Given the description of an element on the screen output the (x, y) to click on. 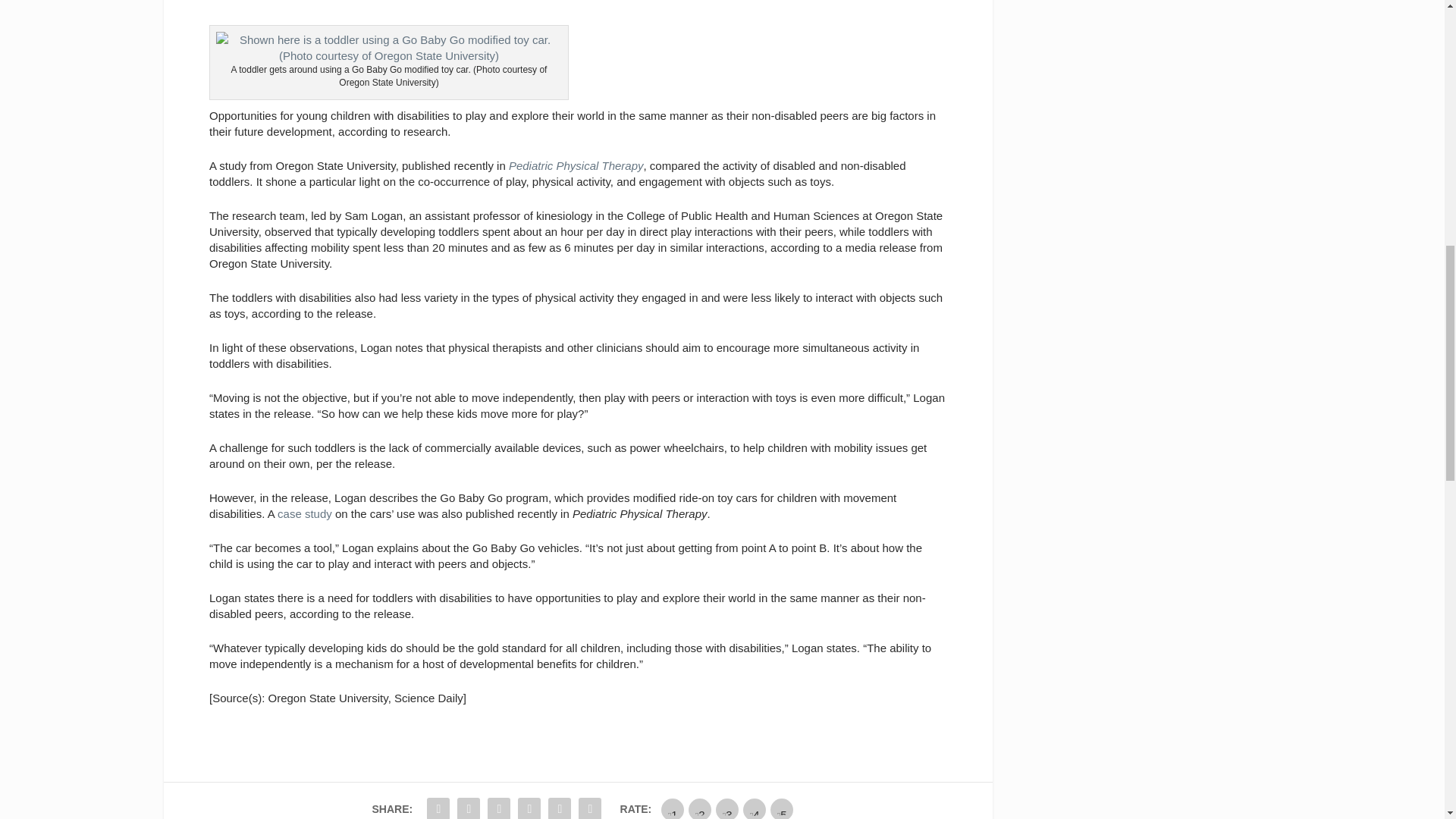
gorgeous (781, 808)
bad (672, 808)
regular (727, 808)
good (753, 808)
poor (699, 808)
